Given the description of an element on the screen output the (x, y) to click on. 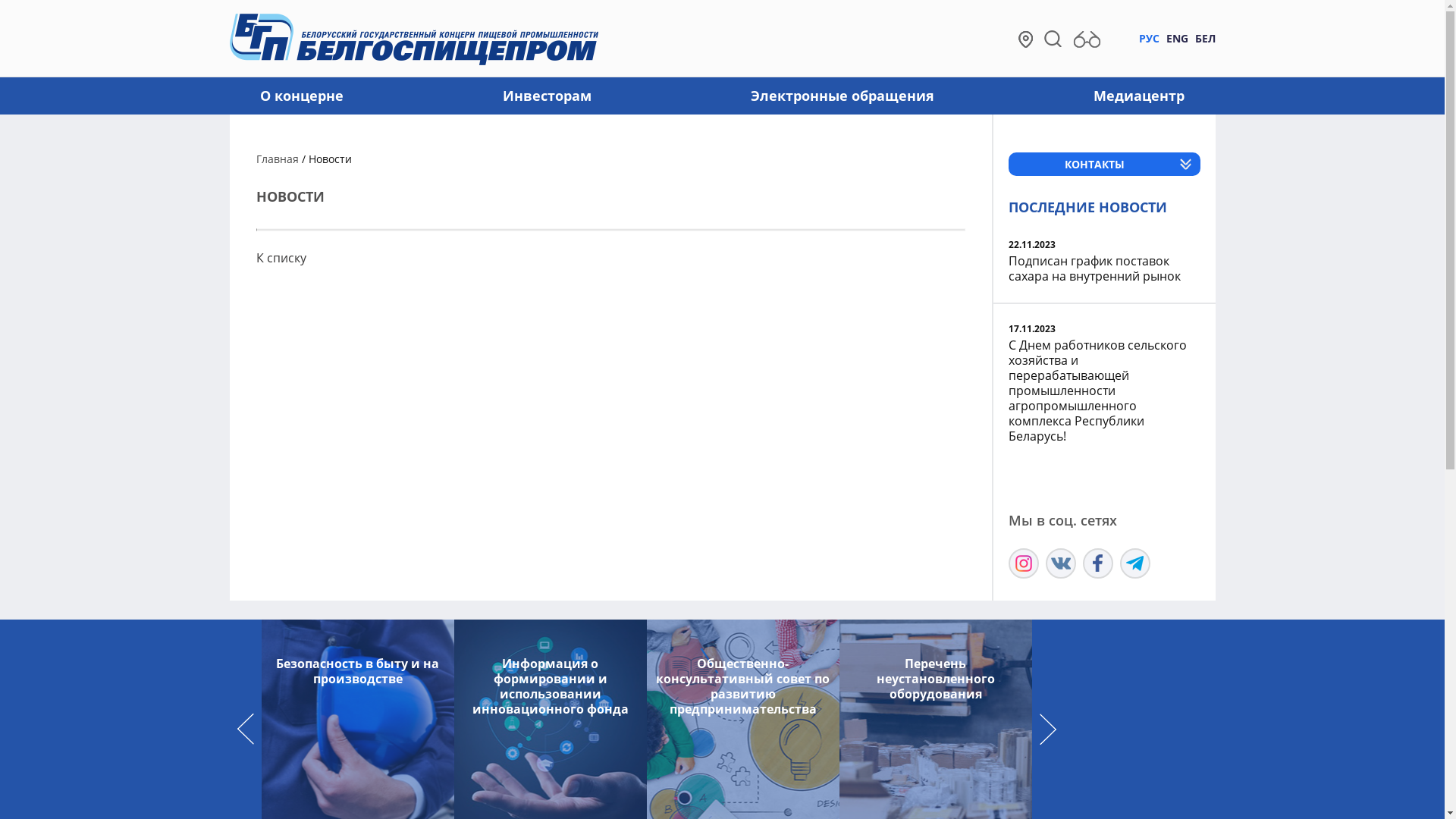
Vk Element type: hover (1059, 563)
Instagram Element type: hover (1023, 563)
Telegram Element type: hover (1134, 563)
Facebook Element type: hover (1097, 563)
ENG Element type: text (1177, 38)
